Given the description of an element on the screen output the (x, y) to click on. 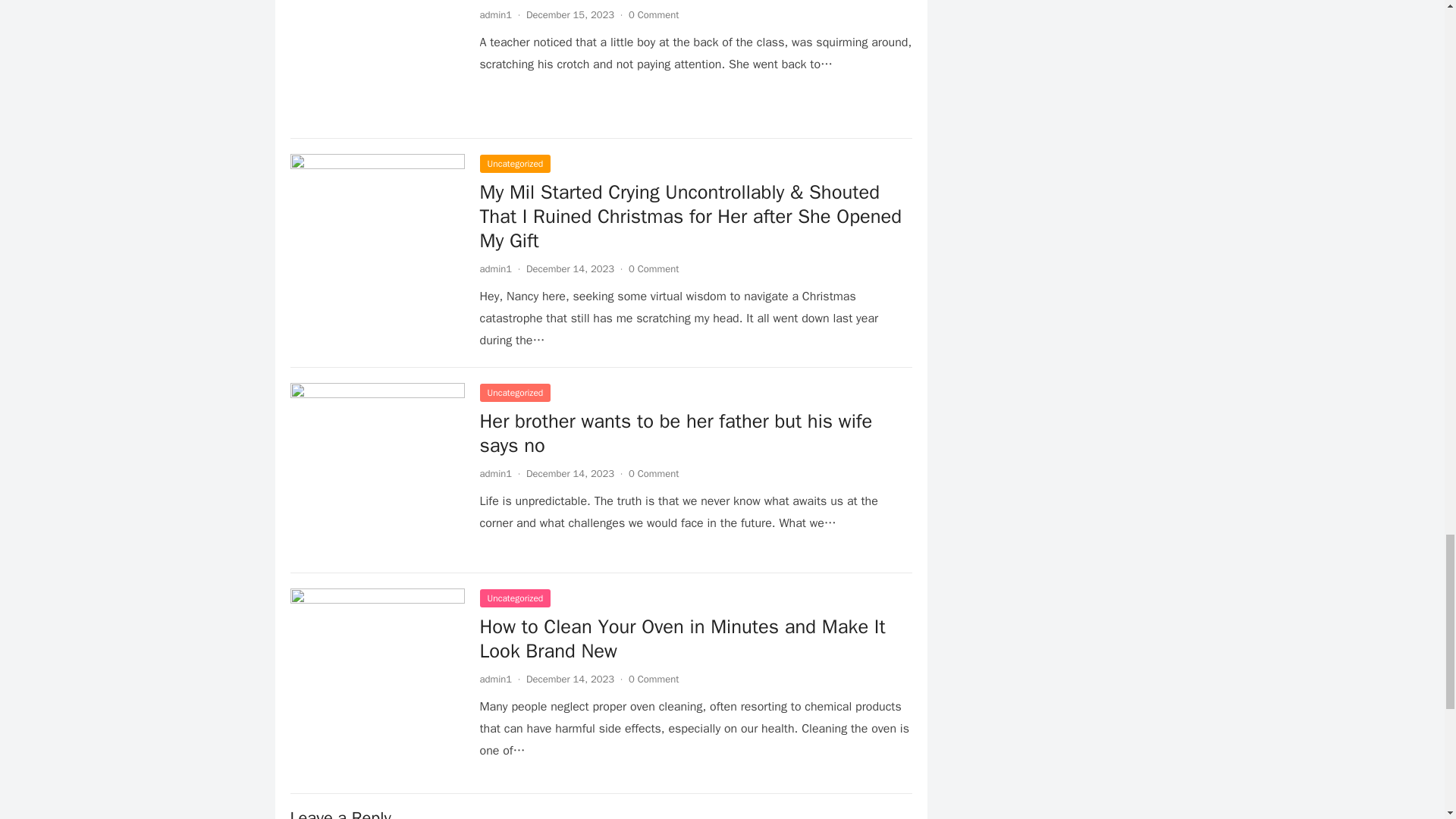
Posts by admin1 (495, 472)
Uncategorized (514, 163)
Posts by admin1 (495, 14)
0 Comment (653, 268)
Posts by admin1 (495, 268)
admin1 (495, 14)
admin1 (495, 268)
0 Comment (653, 14)
Posts by admin1 (495, 678)
